Given the description of an element on the screen output the (x, y) to click on. 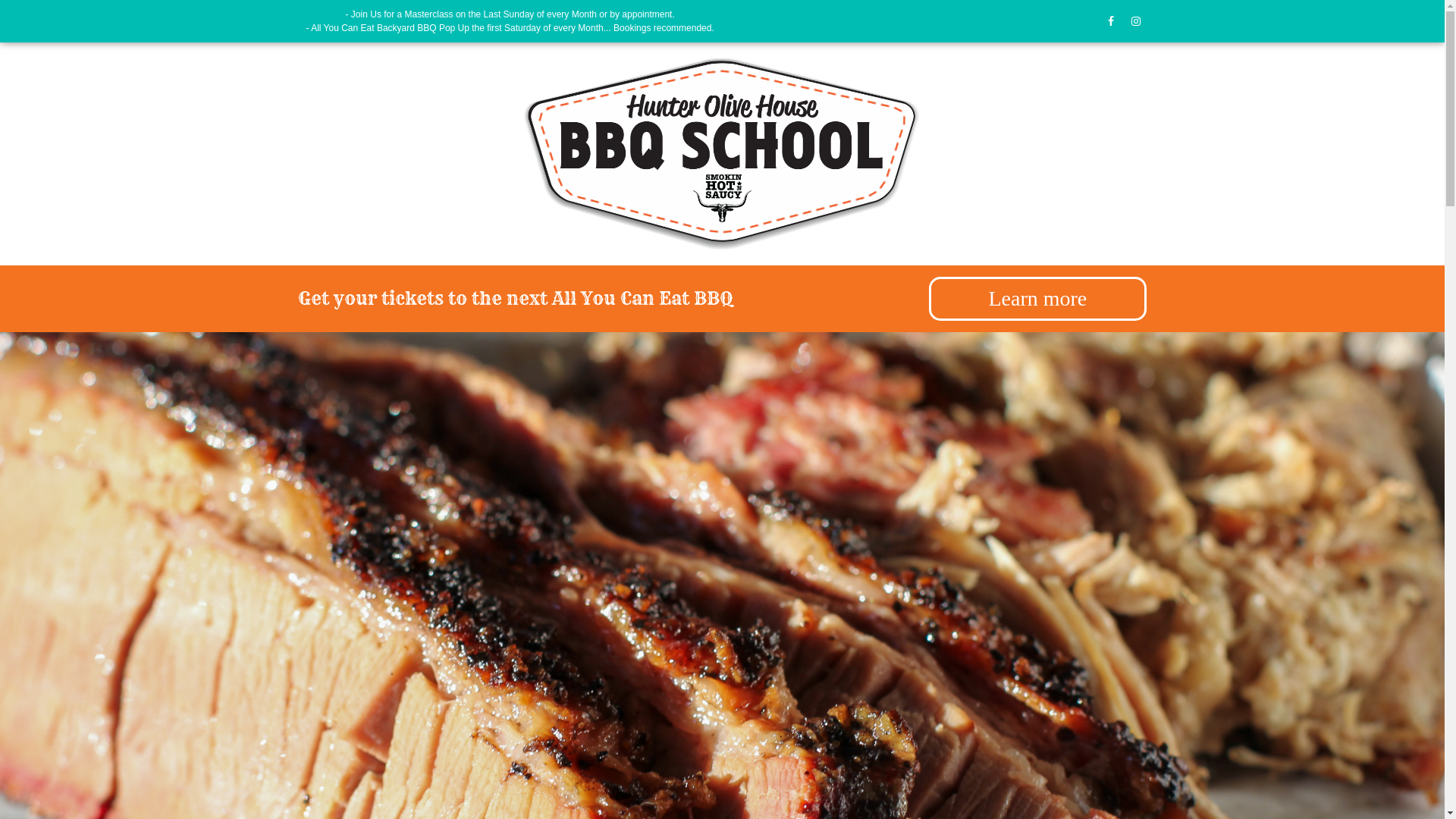
Learn more Element type: text (1037, 298)
